Given the description of an element on the screen output the (x, y) to click on. 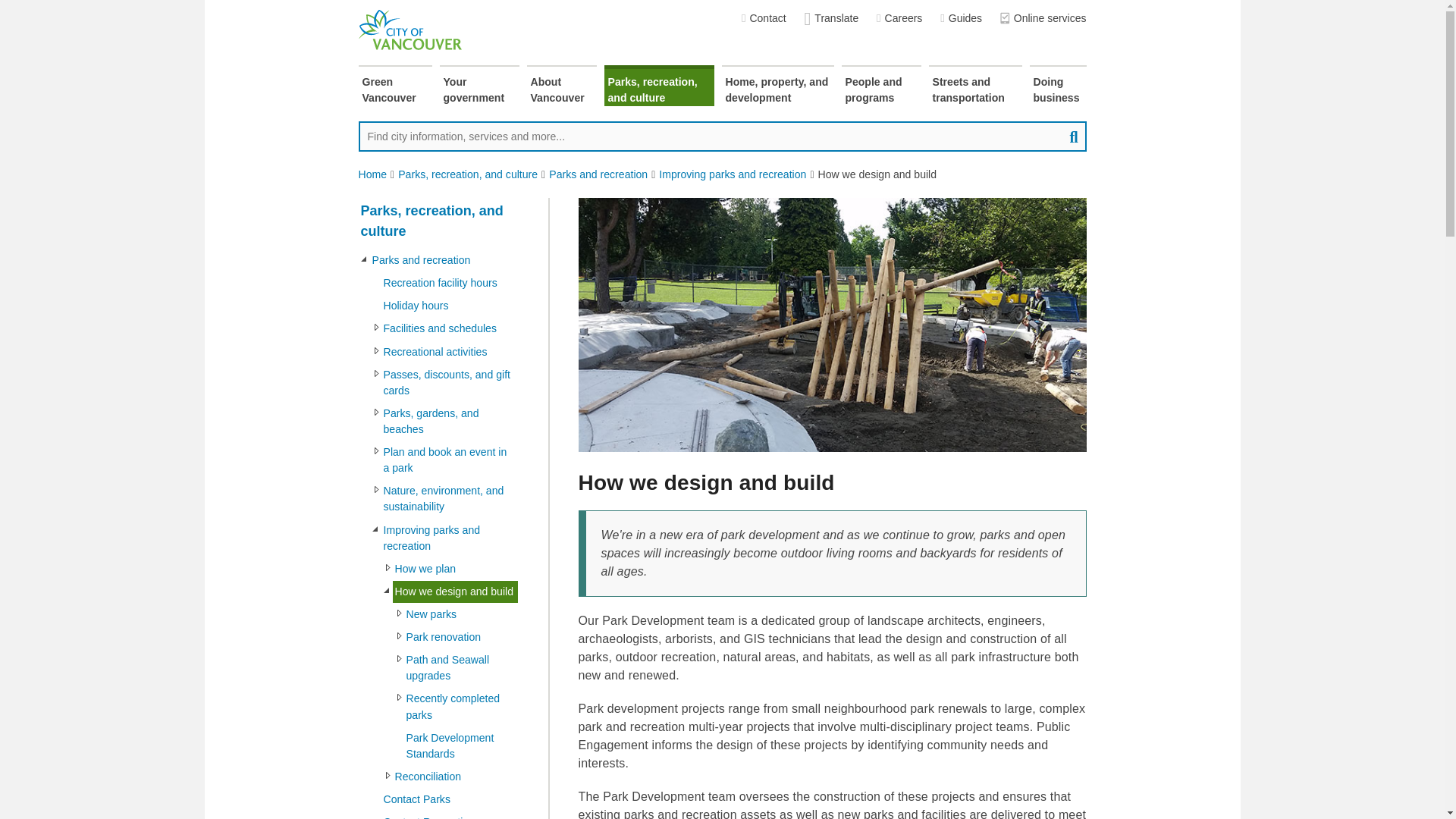
Guides (960, 18)
Online services (1043, 18)
Recreation facility hours (448, 282)
Recreational activities (448, 352)
About Vancouver (560, 85)
Home, property, and development (778, 85)
Improving parks and recreation (732, 174)
Doing business (1057, 85)
Parks, recreation, and culture (437, 221)
Home (372, 174)
Translate (832, 18)
Parks and recreation (443, 260)
Parks, gardens, and beaches (448, 421)
Green Vancouver (394, 85)
Passes, discounts, and gift cards (448, 382)
